Given the description of an element on the screen output the (x, y) to click on. 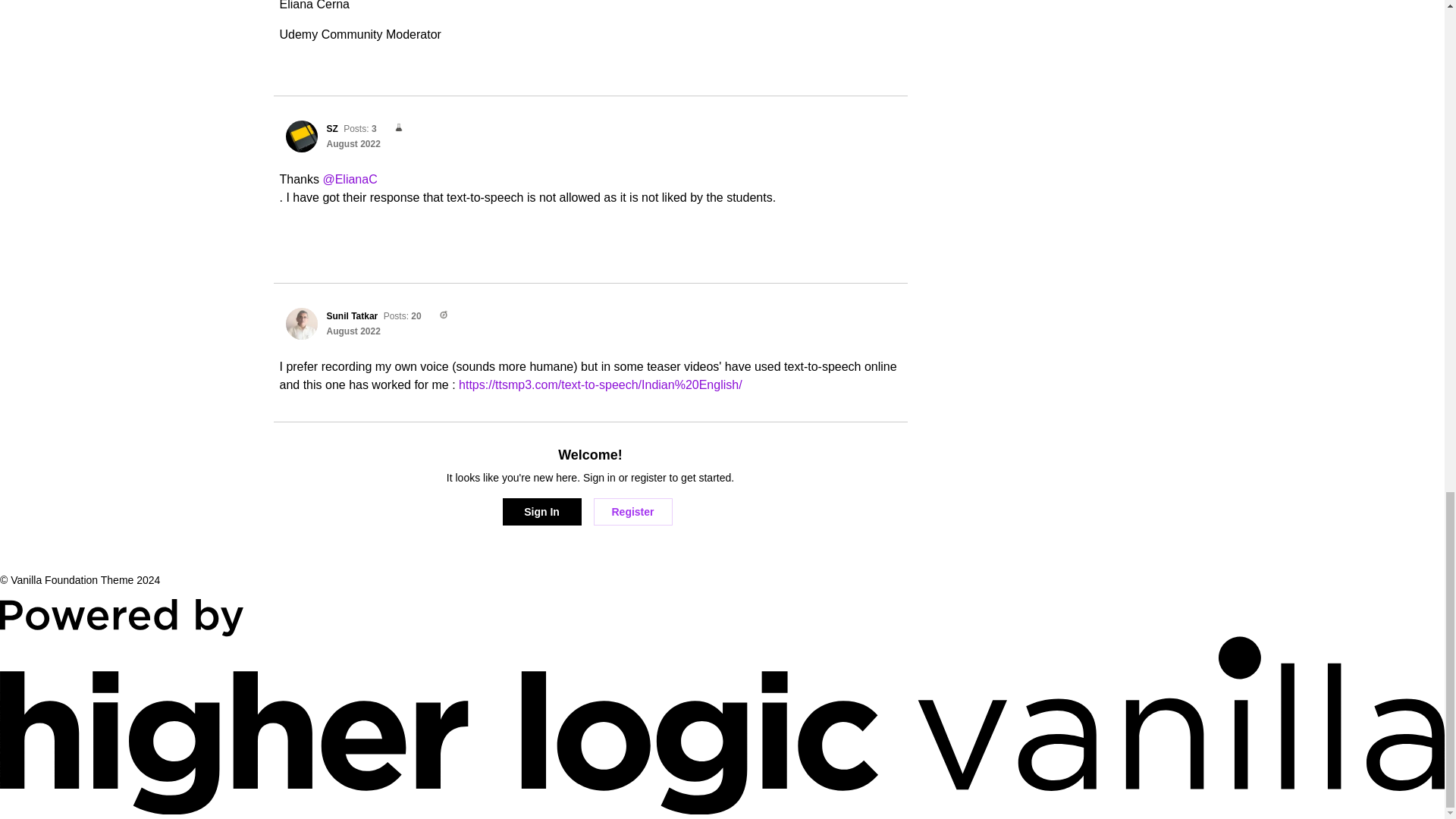
August 24, 2022 5:48PM (353, 330)
Sign In (541, 511)
SZ (301, 136)
SZ (331, 128)
Register (631, 511)
Register (631, 511)
Sunil Tatkar (351, 316)
Sign In (541, 511)
August 23, 2022 3:12PM (353, 143)
Trailblazer (438, 315)
